Given the description of an element on the screen output the (x, y) to click on. 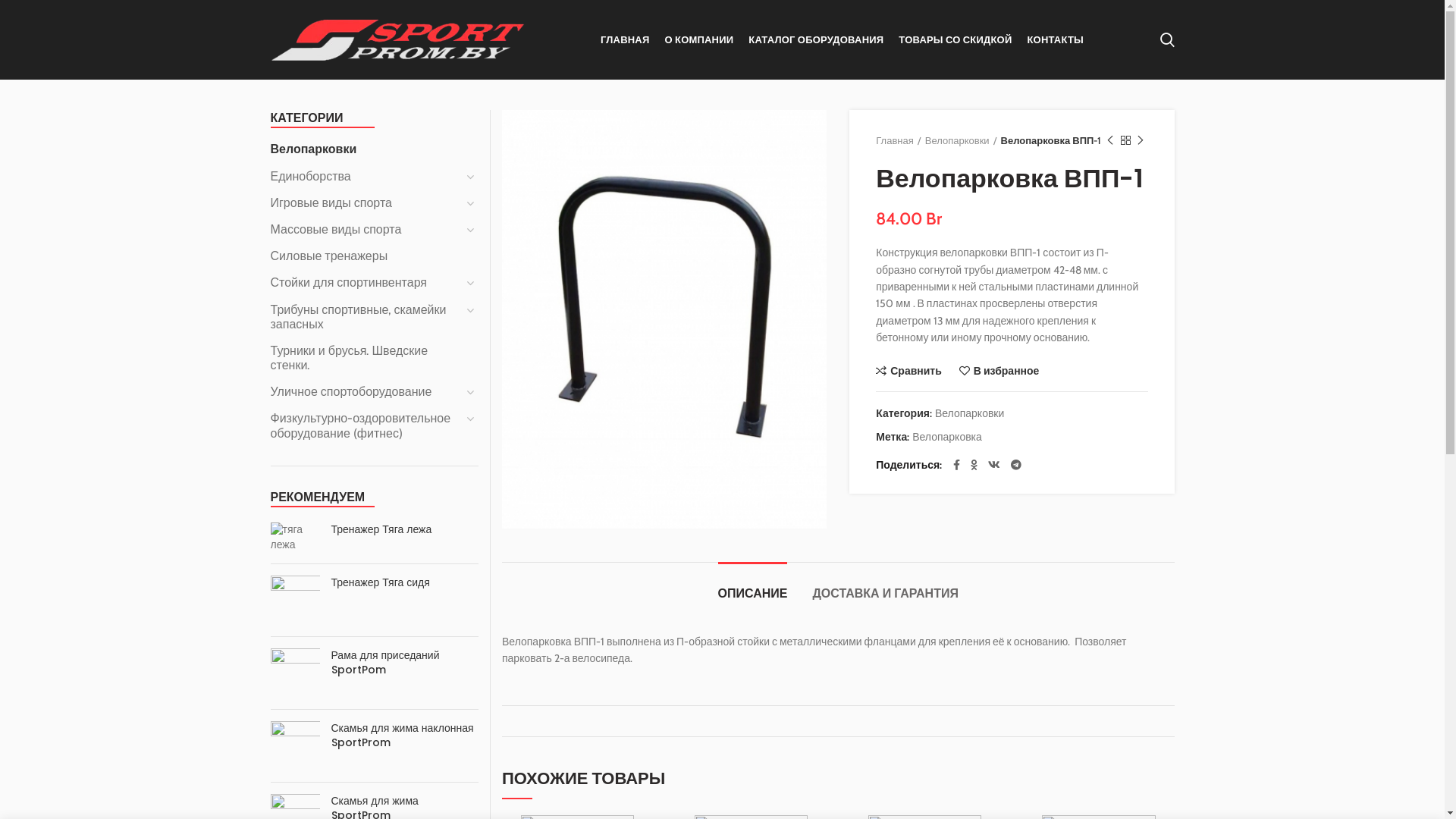
VK Element type: text (341, 729)
Facebook Element type: text (956, 464)
Search Element type: hover (1167, 39)
Odnoklassniki Element type: text (312, 729)
SportProm Element type: text (294, 796)
vpp1 Element type: hover (664, 318)
Facebook Element type: text (284, 729)
Telegram Element type: text (370, 729)
Telegram Element type: text (1015, 464)
